Given the description of an element on the screen output the (x, y) to click on. 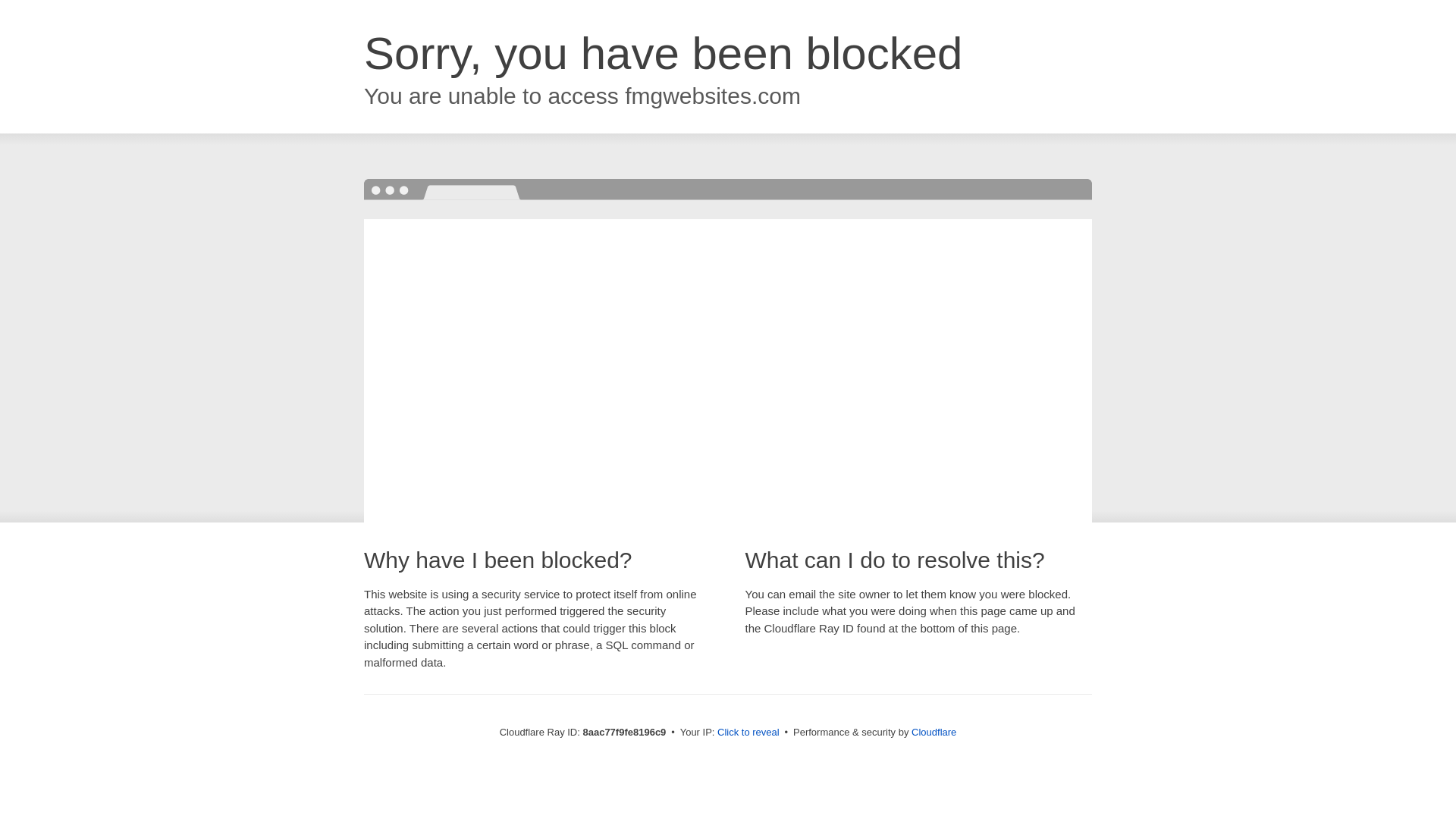
Click to reveal (747, 732)
Cloudflare (933, 731)
